Given the description of an element on the screen output the (x, y) to click on. 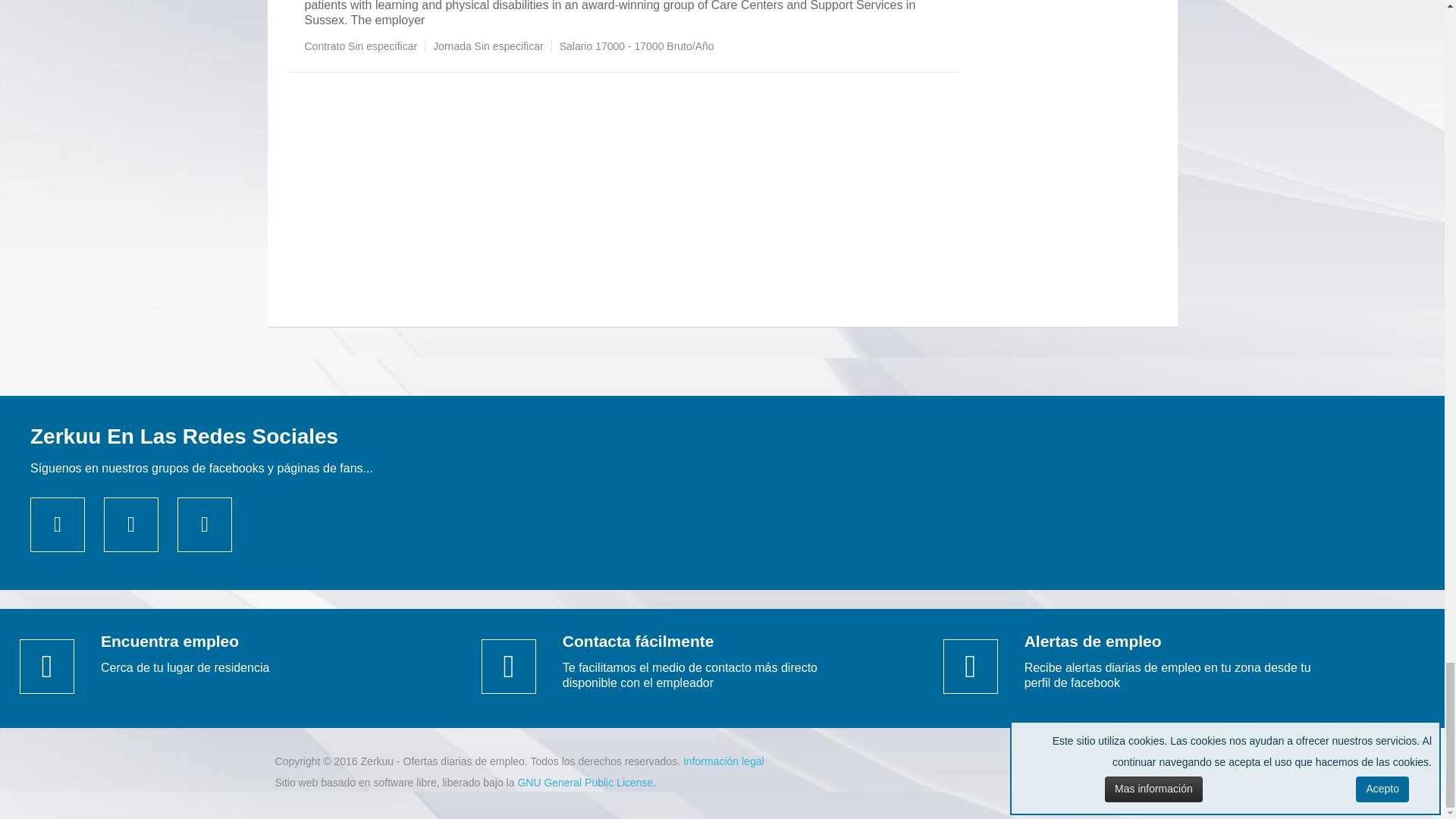
GNU General Public License. (586, 782)
